Given the description of an element on the screen output the (x, y) to click on. 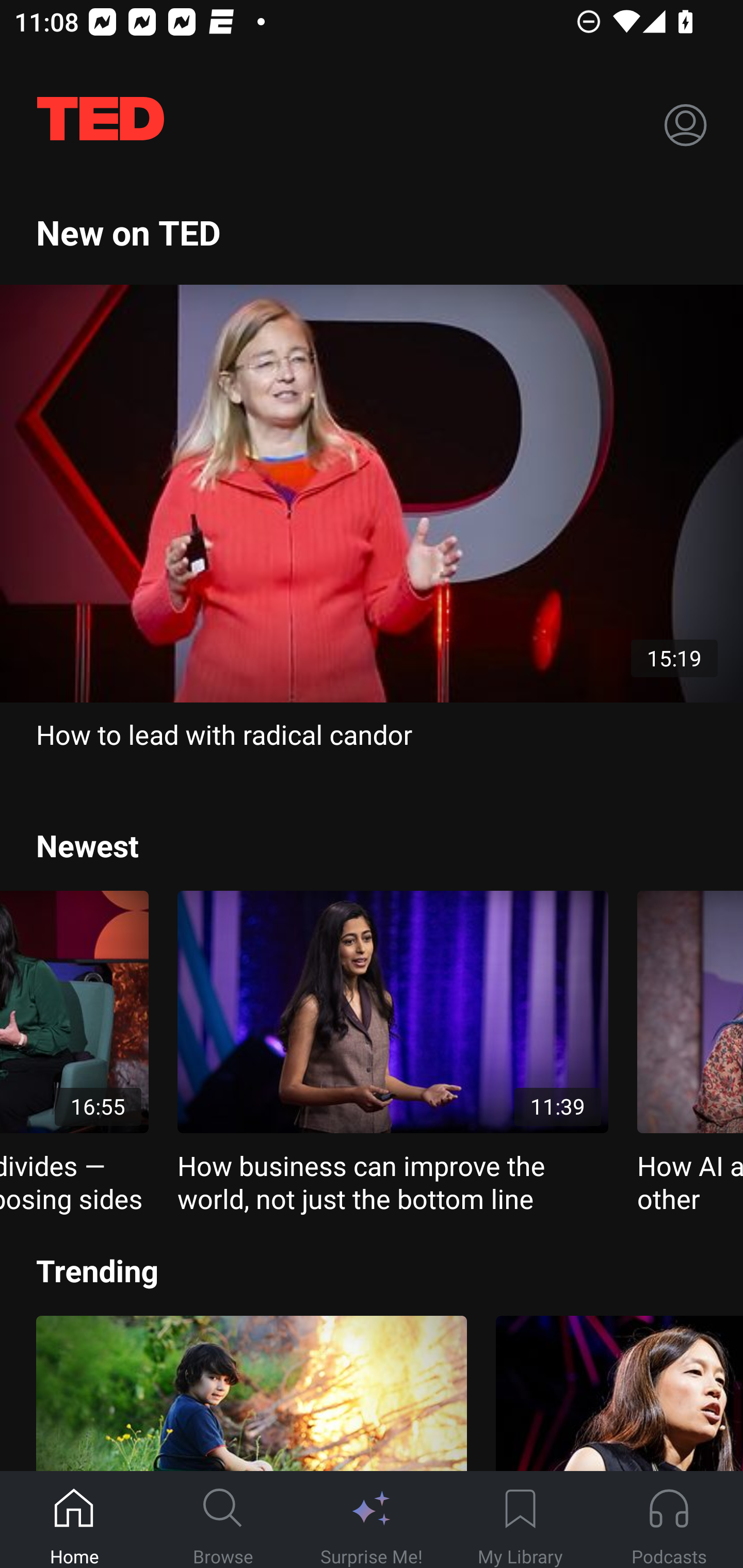
Home (74, 1520)
Browse (222, 1520)
Surprise Me! (371, 1520)
My Library (519, 1520)
Podcasts (668, 1520)
